Given the description of an element on the screen output the (x, y) to click on. 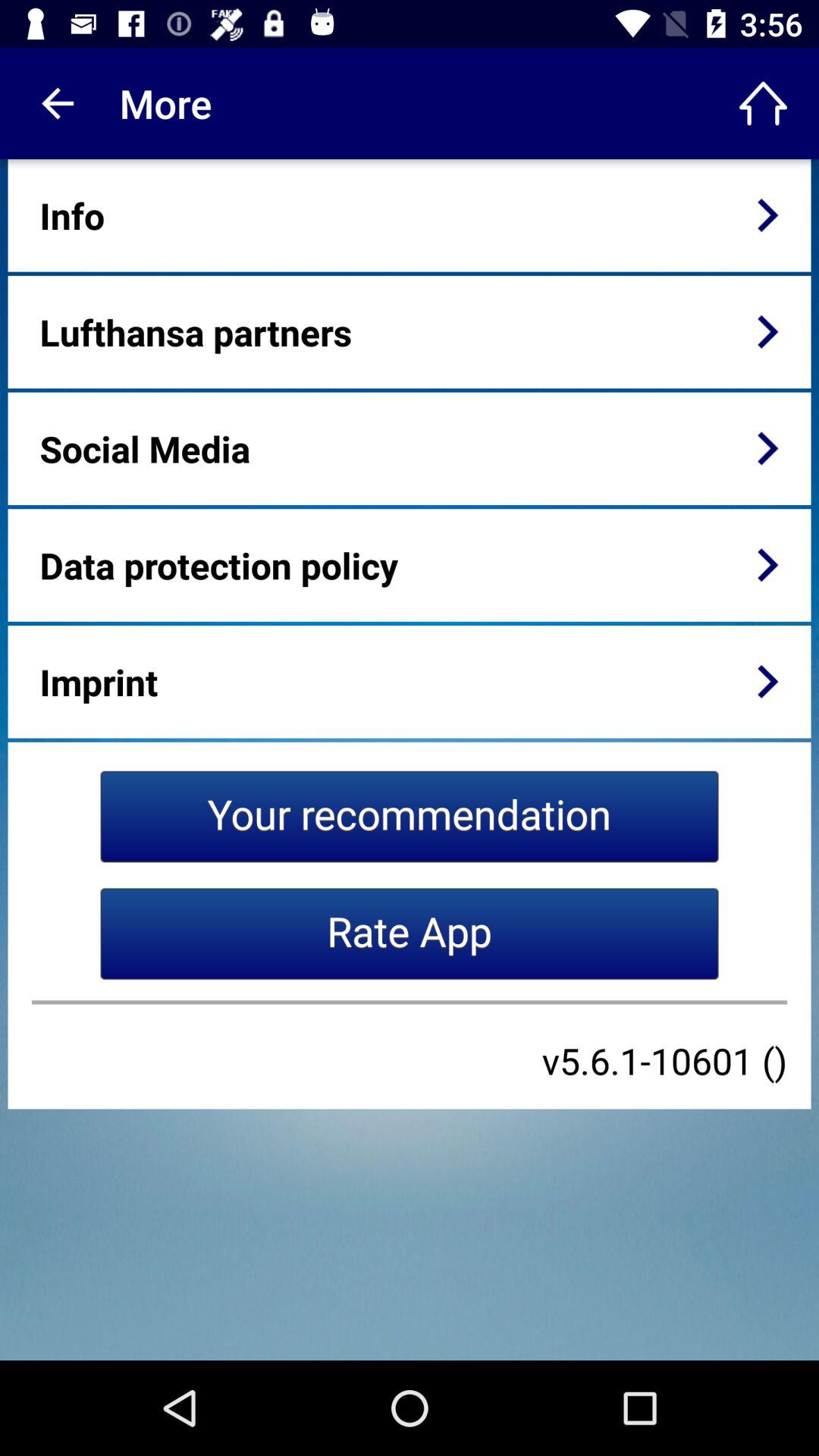
swipe until the data protection policy icon (218, 564)
